Given the description of an element on the screen output the (x, y) to click on. 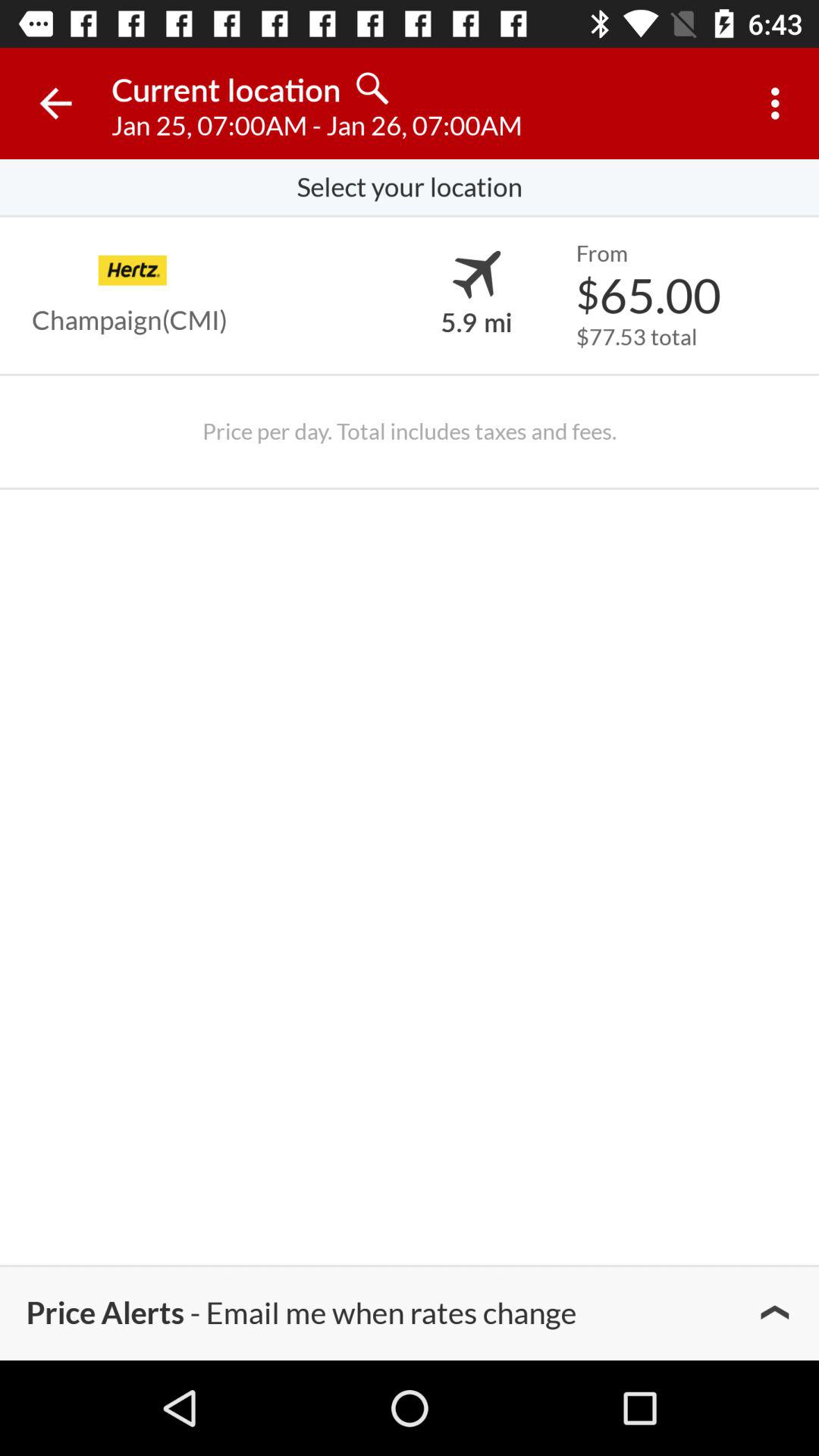
press icon next to current location item (55, 103)
